Given the description of an element on the screen output the (x, y) to click on. 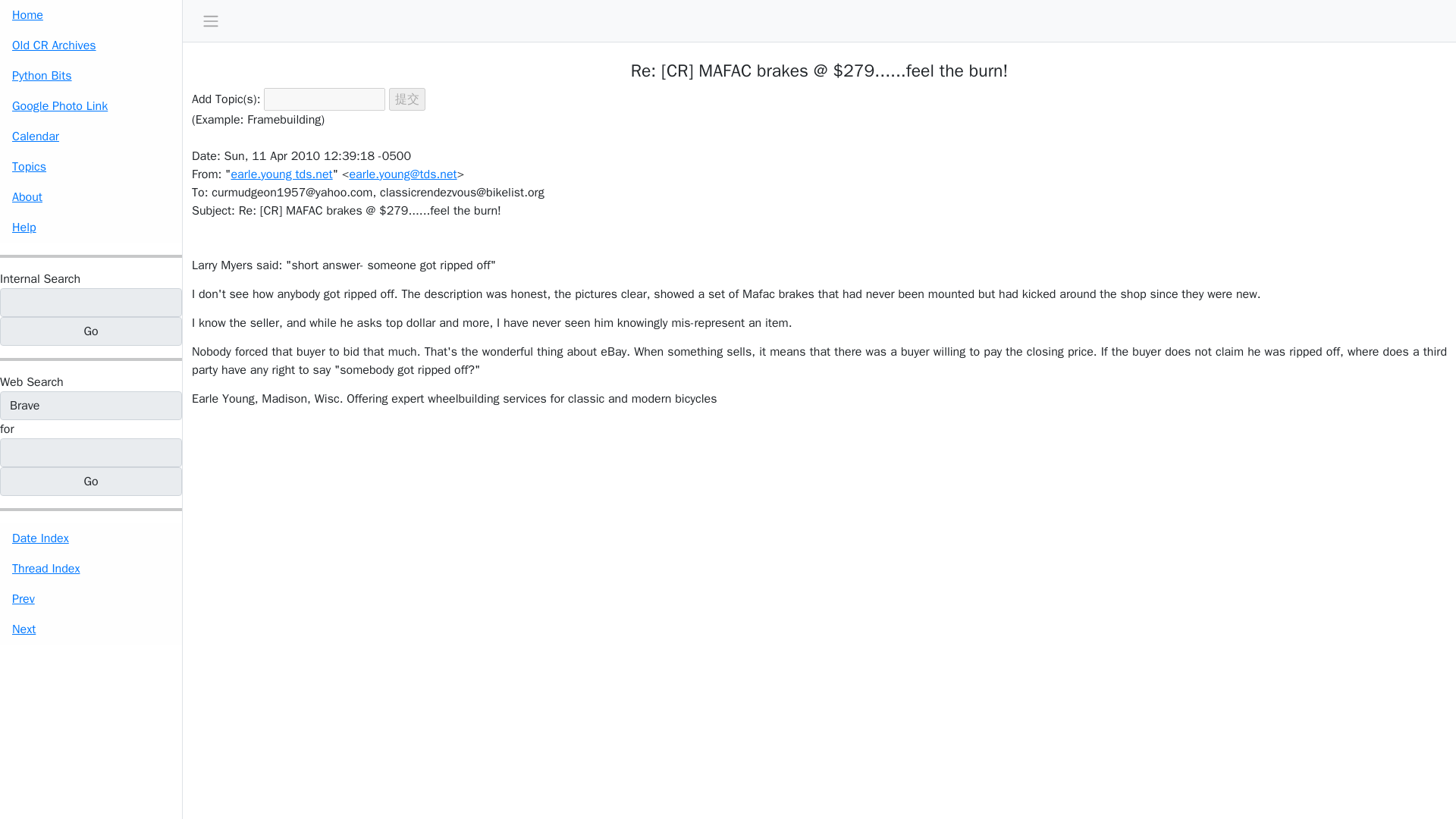
Enter a word or phrase to search the archive. (40, 279)
Next (91, 629)
Select your preferred search engine and enter a search term. (32, 382)
Go (91, 330)
Python Bits (91, 75)
Go (91, 481)
Thread Index (91, 568)
earle.young tds.net (280, 174)
Go (91, 330)
Topics (91, 166)
